Given the description of an element on the screen output the (x, y) to click on. 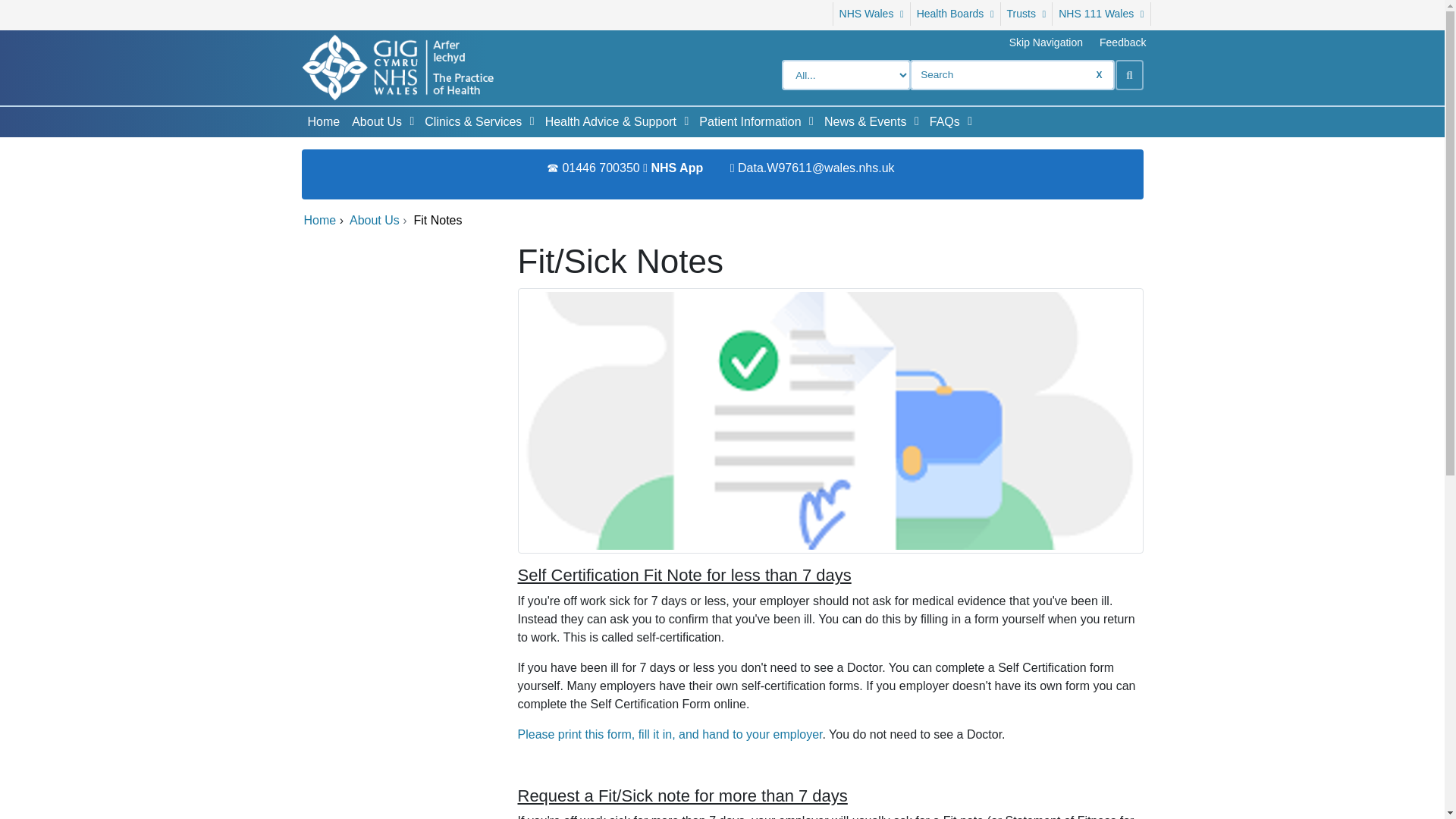
Health Boards (955, 13)
Home (323, 122)
Search (1128, 74)
Show Submenu For About Us (411, 120)
Feedback (1122, 42)
NHS 111 Wales (1101, 13)
Trusts (1026, 13)
Skip Navigation (1045, 42)
About Us (373, 122)
NHS Wales (871, 13)
